Given the description of an element on the screen output the (x, y) to click on. 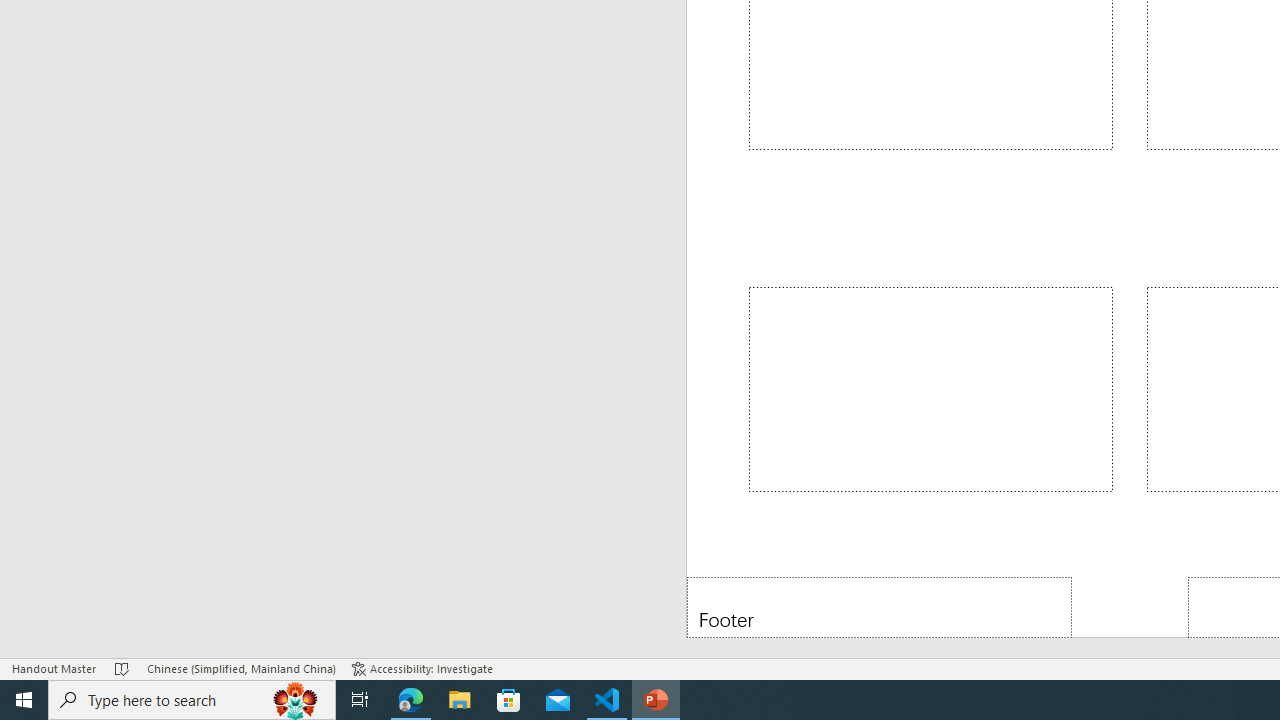
Spell Check No Errors (123, 668)
Accessibility Checker Accessibility: Investigate (422, 668)
Footer (879, 606)
